Given the description of an element on the screen output the (x, y) to click on. 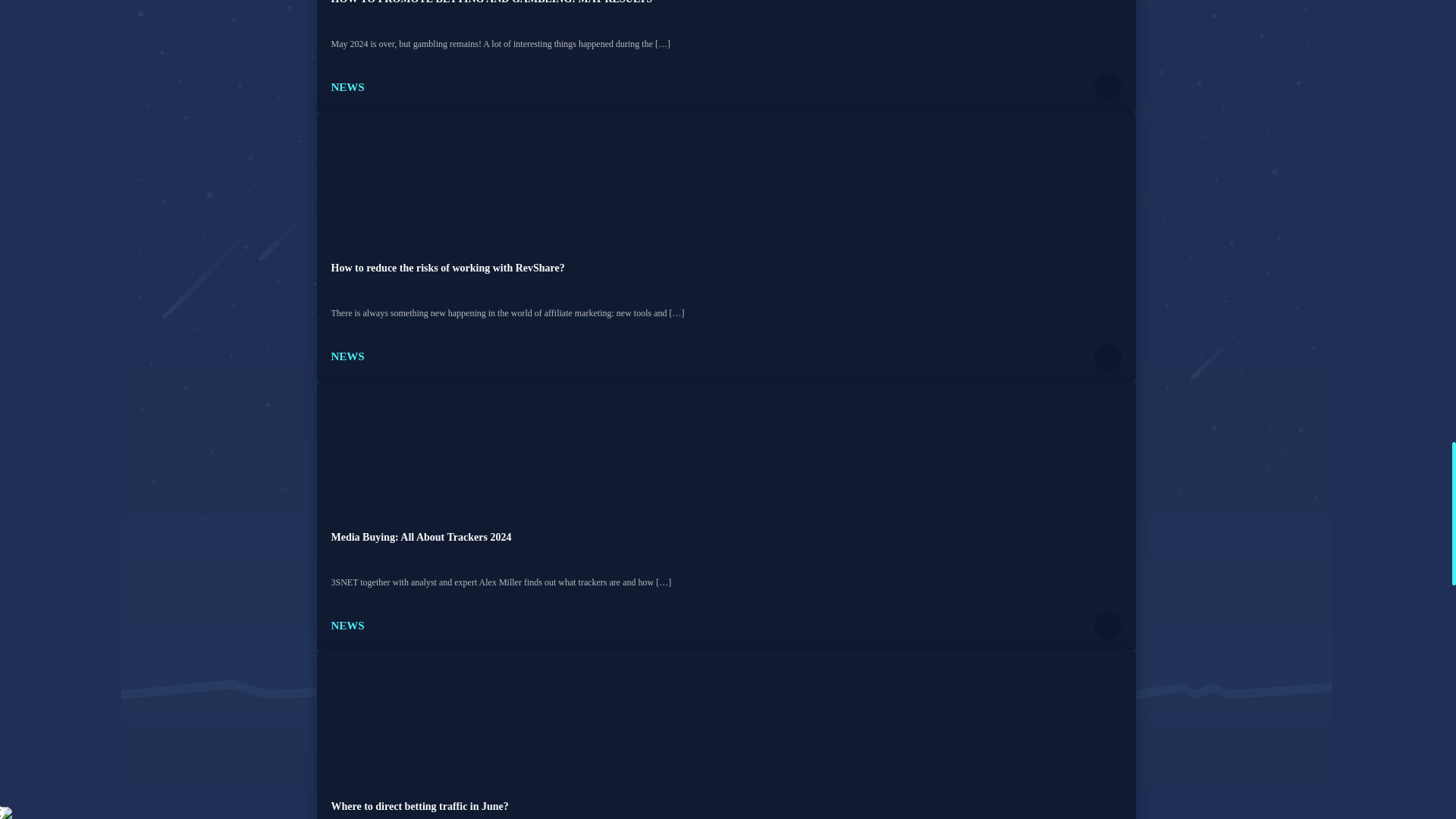
NEWS (347, 355)
NEWS (347, 87)
Media Buying: All About Trackers 2024 (420, 536)
How to reduce the risks of working with RevShare? (447, 267)
HOW TO PROMOTE BETTING AND GAMBLING: MAY RESULTS (491, 2)
